Given the description of an element on the screen output the (x, y) to click on. 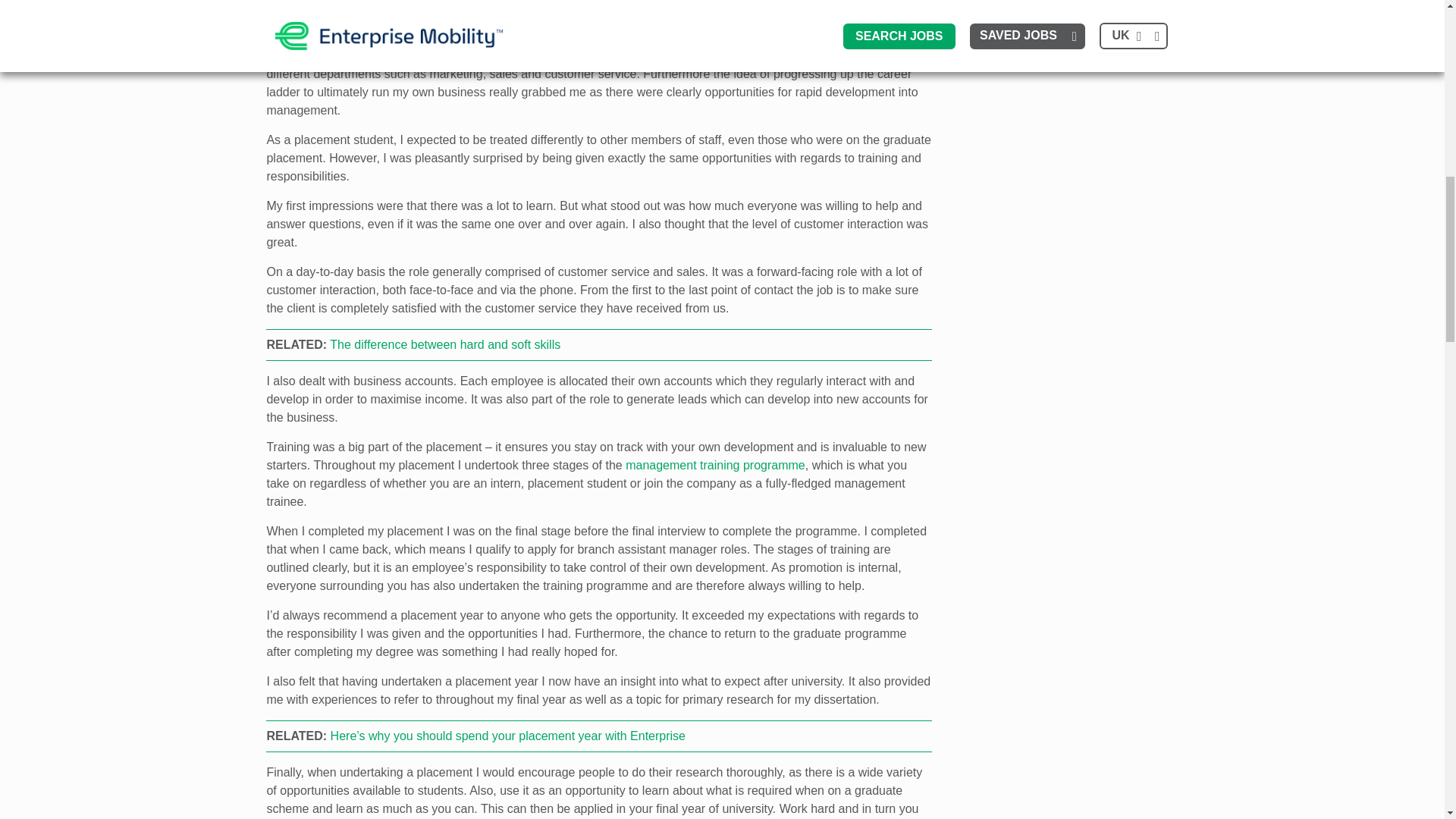
The difference between hard and soft skills (445, 344)
Graduate Management Trainee programme (715, 464)
